Given the description of an element on the screen output the (x, y) to click on. 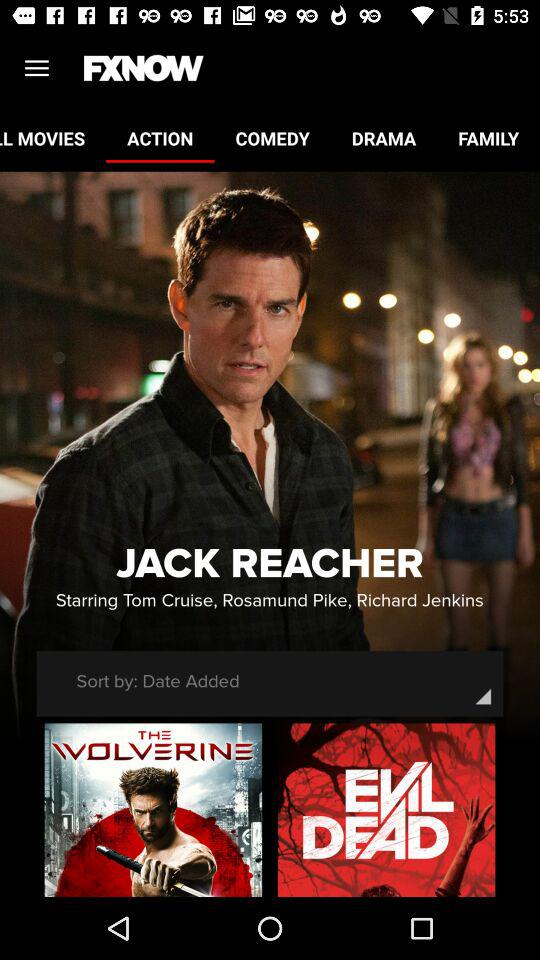
select the item to the left of comedy icon (160, 138)
